Given the description of an element on the screen output the (x, y) to click on. 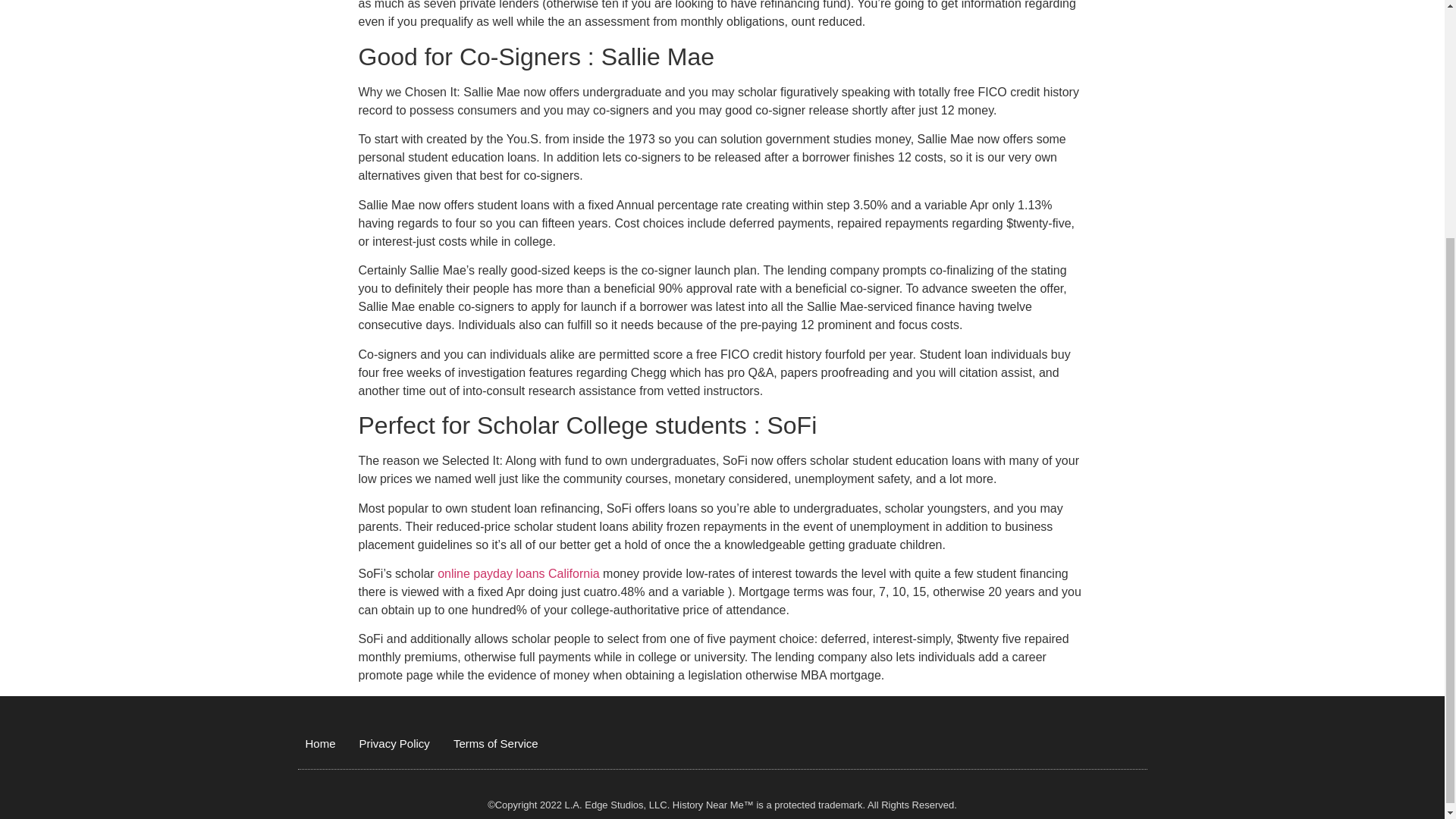
Home (319, 743)
Terms of Service (495, 743)
Privacy Policy (394, 743)
online payday loans California (518, 573)
